Given the description of an element on the screen output the (x, y) to click on. 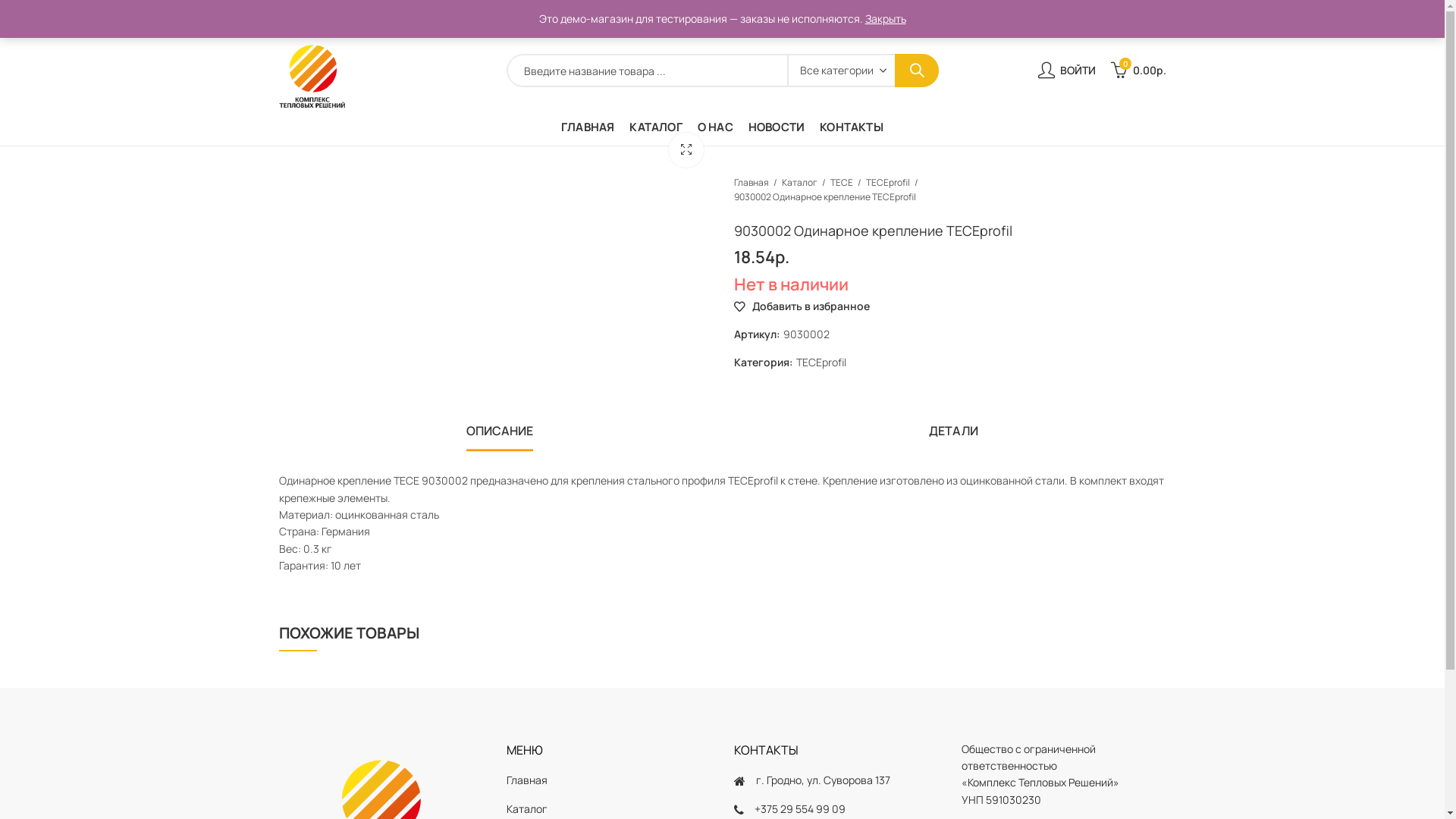
TECEprofil Element type: text (888, 182)
KTR9102@GMAIL.COM Element type: text (1007, 15)
+375 29 554 99 09 Element type: text (798, 808)
+375 29 554 99 09 Element type: text (1121, 15)
TECEprofil Element type: text (821, 362)
TECE Element type: text (840, 182)
